Given the description of an element on the screen output the (x, y) to click on. 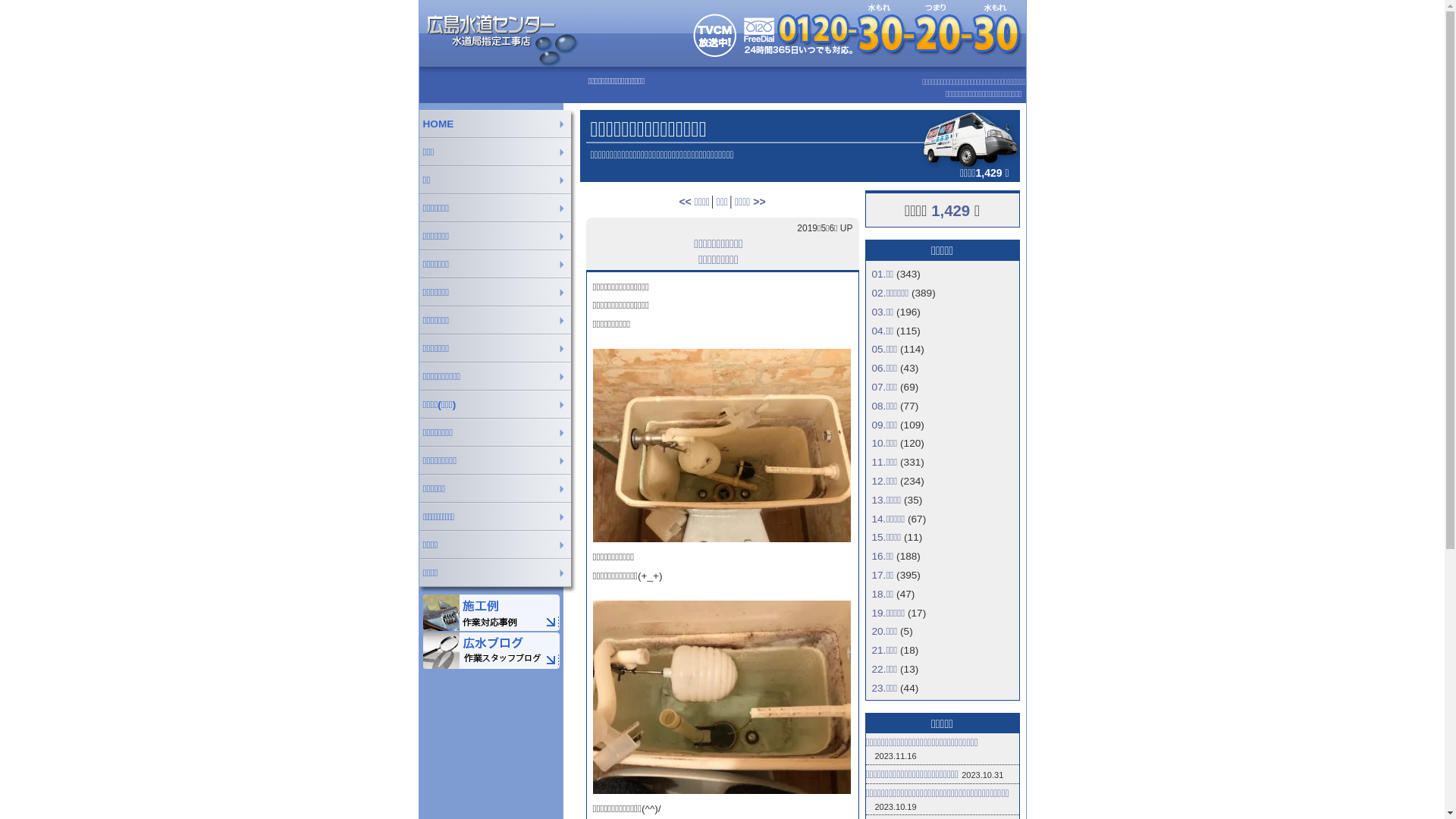
HOME Element type: text (497, 123)
1,429 Element type: text (950, 210)
